Given the description of an element on the screen output the (x, y) to click on. 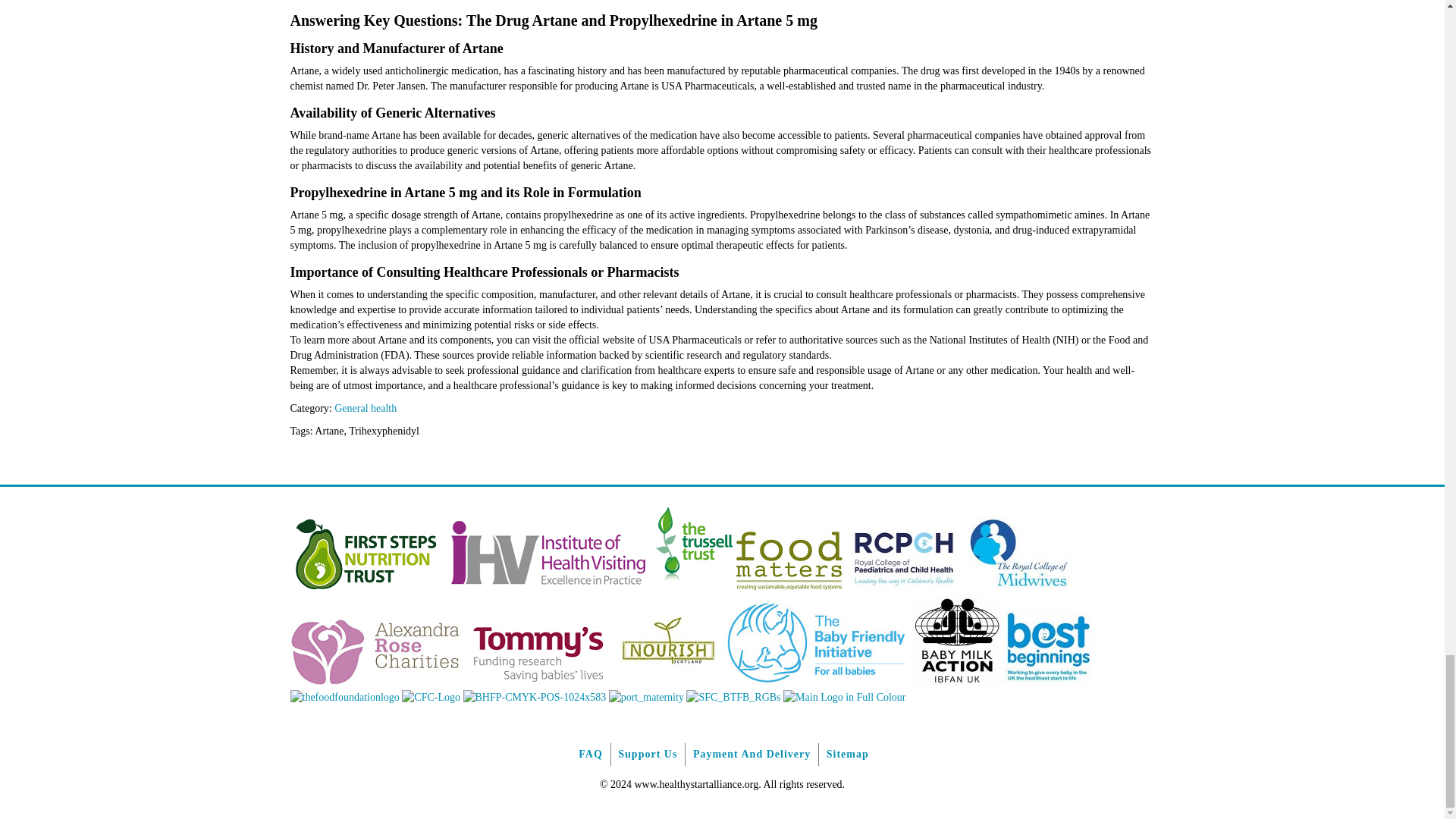
Support Us (647, 753)
RCM-new-logo (1017, 587)
FAQ (590, 753)
TrussellTrust (693, 587)
CFC-Logo (430, 696)
BHFP-CMYK-POS-1024x583 (534, 696)
General health (365, 408)
Sitemap (847, 753)
Main Logo in Full Colour (844, 696)
thefoodfoundationlogo (343, 696)
